Given the description of an element on the screen output the (x, y) to click on. 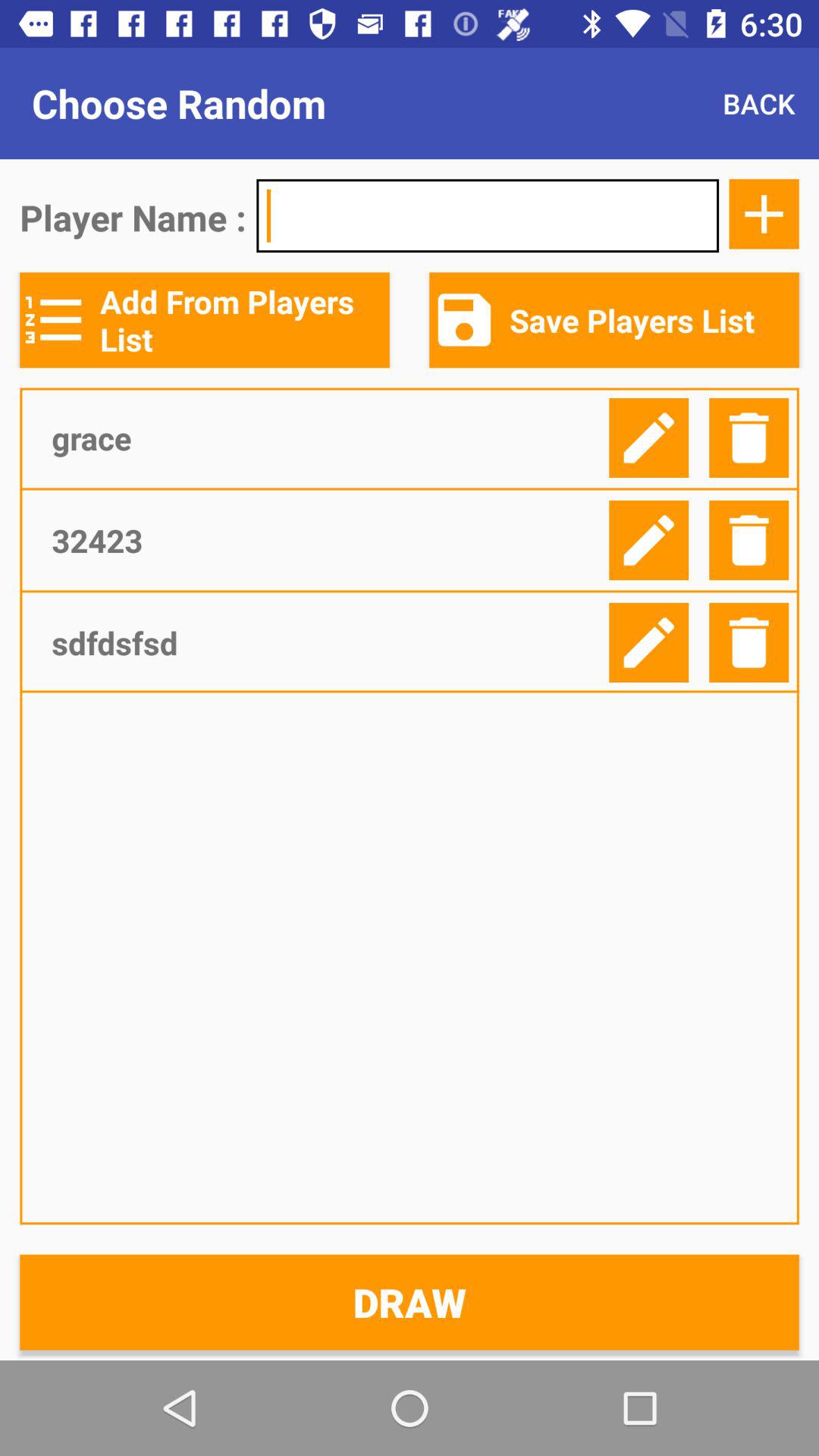
turn off the item above 32423 (324, 437)
